Given the description of an element on the screen output the (x, y) to click on. 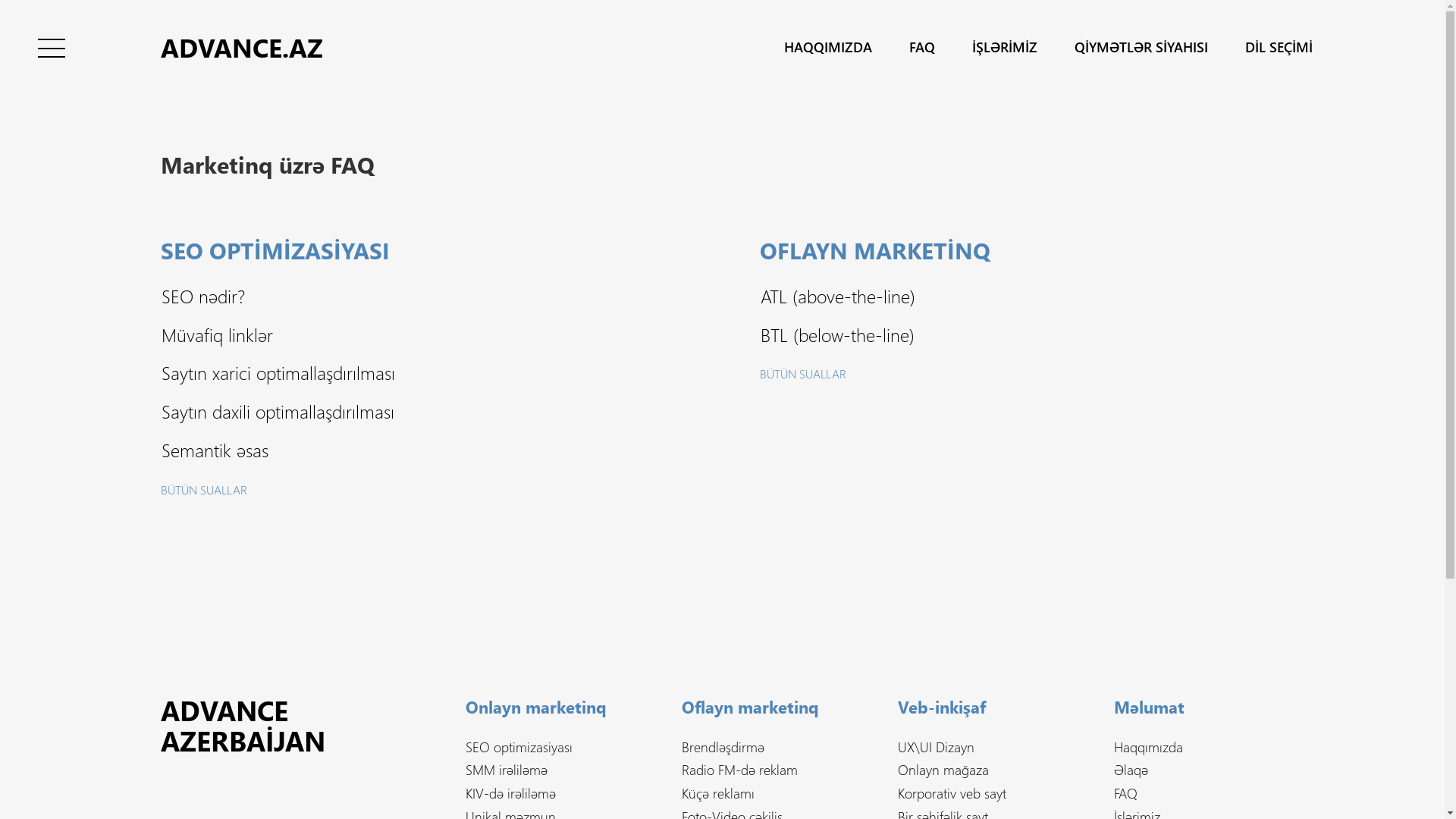
Oflayn marketinq Element type: text (750, 715)
UX\UI Dizayn Element type: text (935, 746)
Korporativ veb sayt Element type: text (951, 793)
ADVANCE.AZ Element type: text (241, 46)
ADVANCE AZERBAIJAN Element type: text (281, 725)
OFLAYN MARKETINQ Element type: text (874, 261)
BTL (below-the-line) Element type: text (837, 334)
ATL (above-the-line) Element type: text (837, 295)
SEO OPTIMIZASIYASI Element type: text (274, 261)
FAQ Element type: text (922, 46)
FAQ Element type: text (1125, 793)
Onlayn marketinq Element type: text (535, 715)
HAQQIMIZDA Element type: text (828, 46)
